Given the description of an element on the screen output the (x, y) to click on. 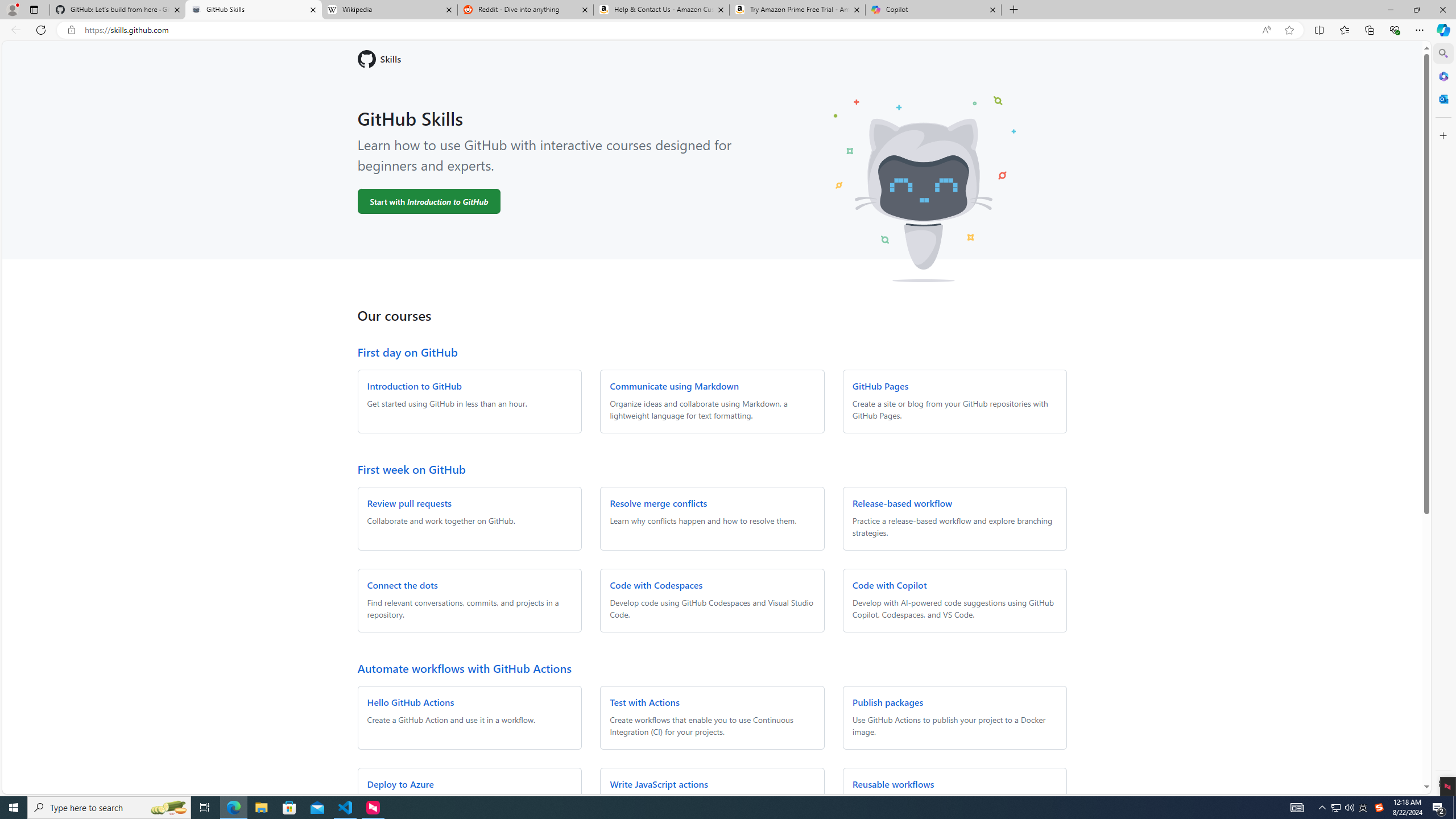
Address and search bar (669, 29)
Connect the dots (402, 585)
Code with Copilot (889, 585)
First week on GitHub (410, 468)
Release-based workflow (901, 503)
Try Amazon Prime Free Trial - Amazon Customer Service (797, 9)
Reusable workflows (892, 784)
First day on GitHub (406, 351)
